Given the description of an element on the screen output the (x, y) to click on. 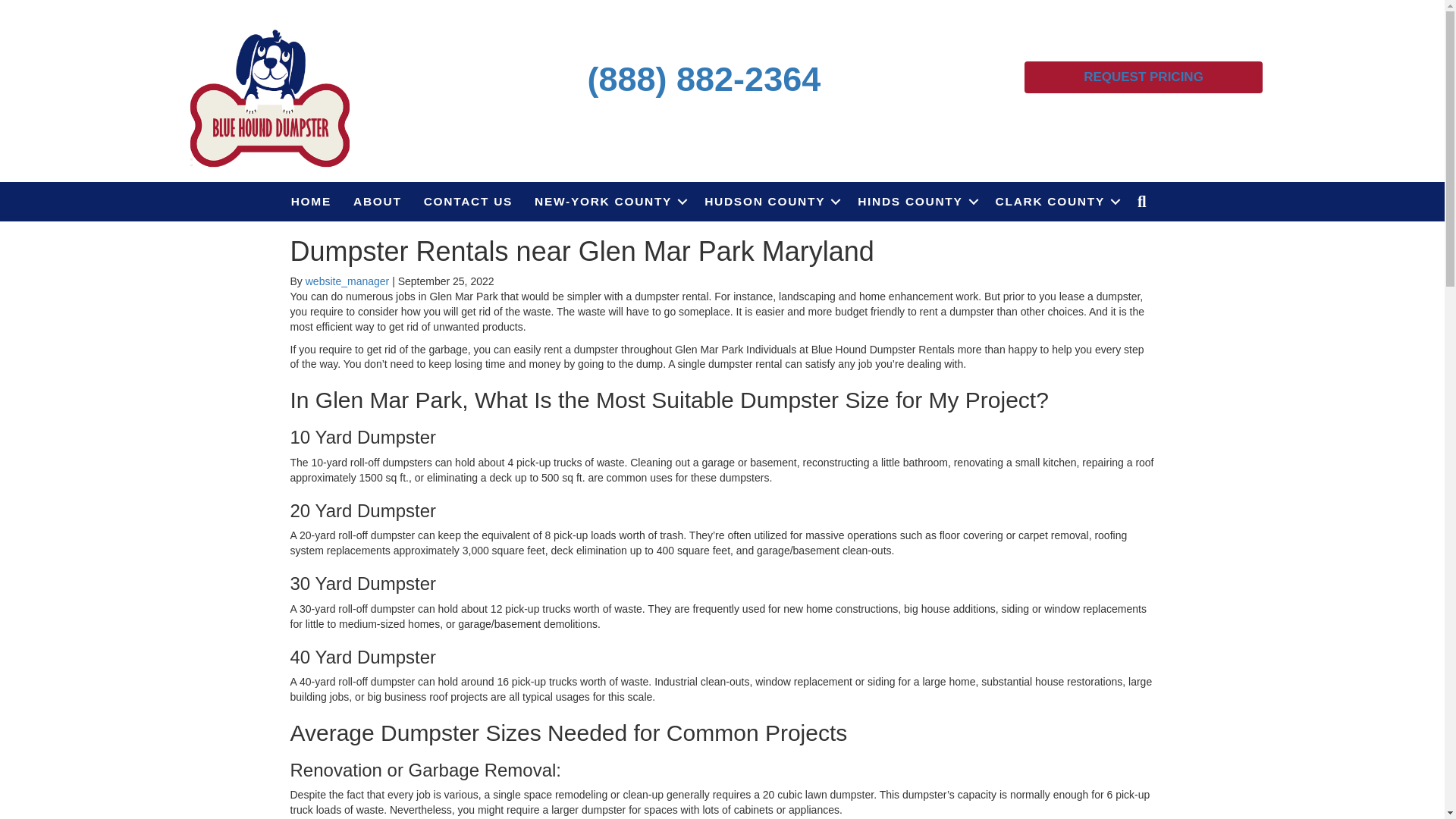
REQUEST PRICING (1144, 77)
HINDS COUNTY (915, 201)
bluehounddumpster (269, 96)
Skip to content (34, 6)
CLARK COUNTY (1055, 201)
ABOUT (377, 201)
HOME (311, 201)
HUDSON COUNTY (769, 201)
NEW-YORK COUNTY (608, 201)
CONTACT US (467, 201)
